Given the description of an element on the screen output the (x, y) to click on. 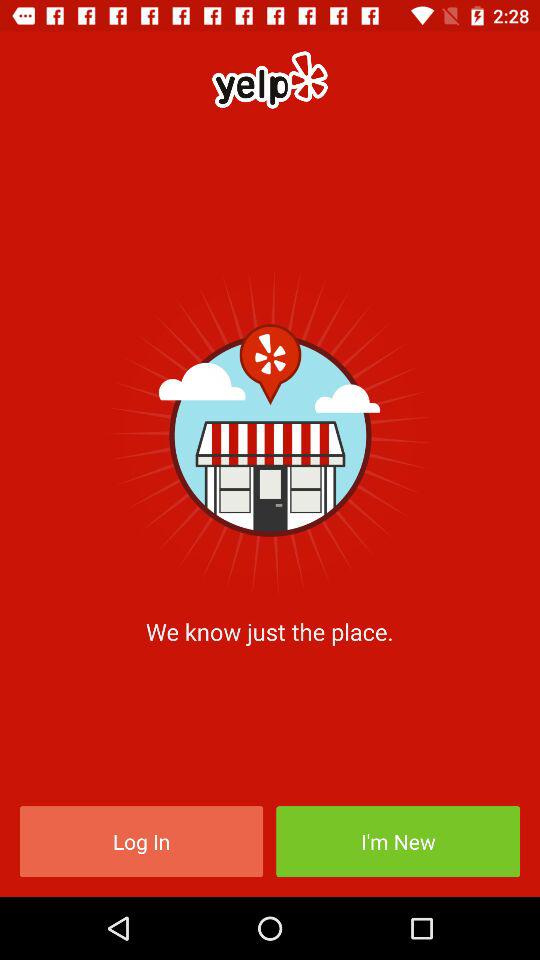
open the icon to the left of the i'm new (141, 841)
